Given the description of an element on the screen output the (x, y) to click on. 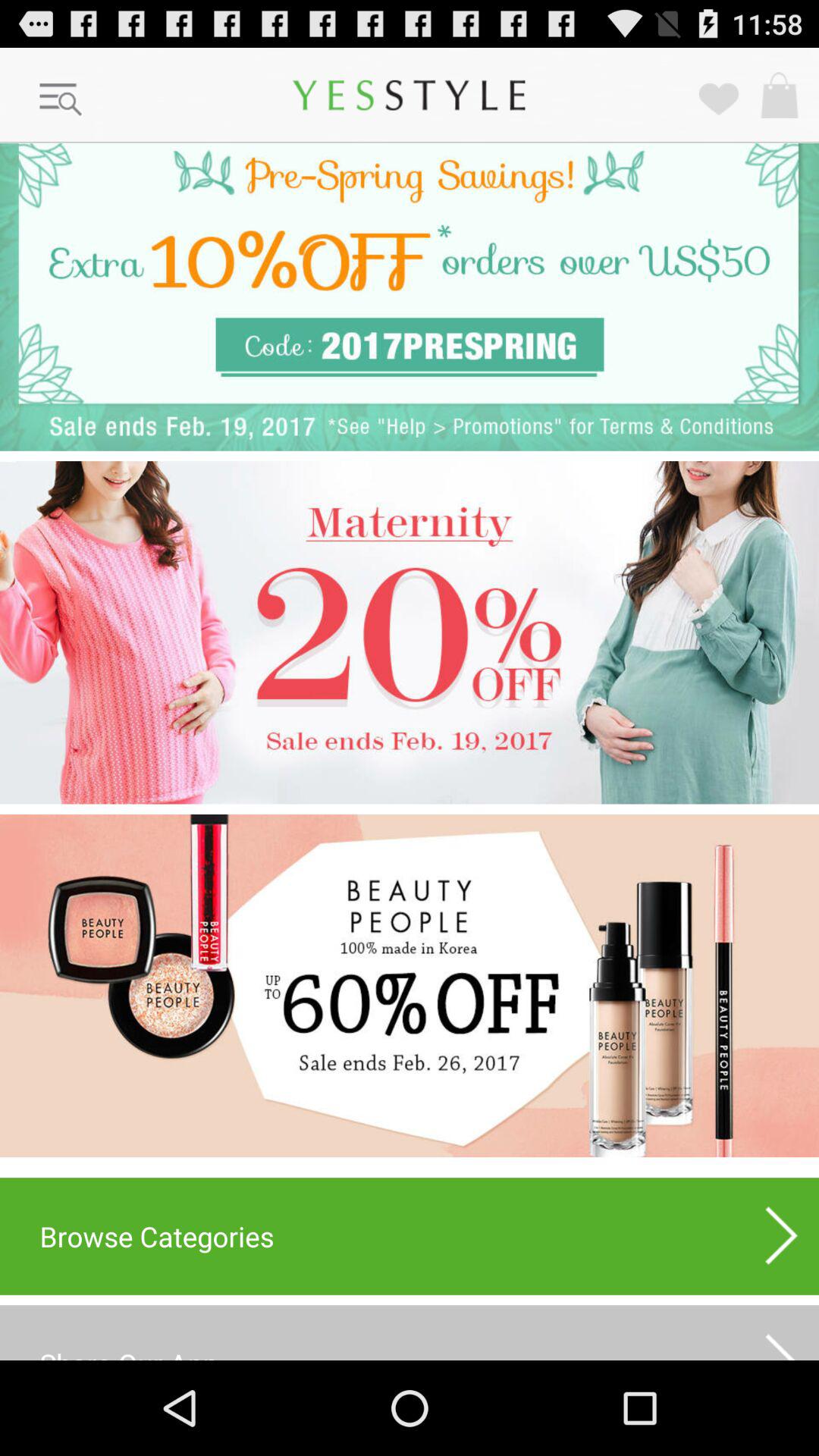
sale details (409, 632)
